Given the description of an element on the screen output the (x, y) to click on. 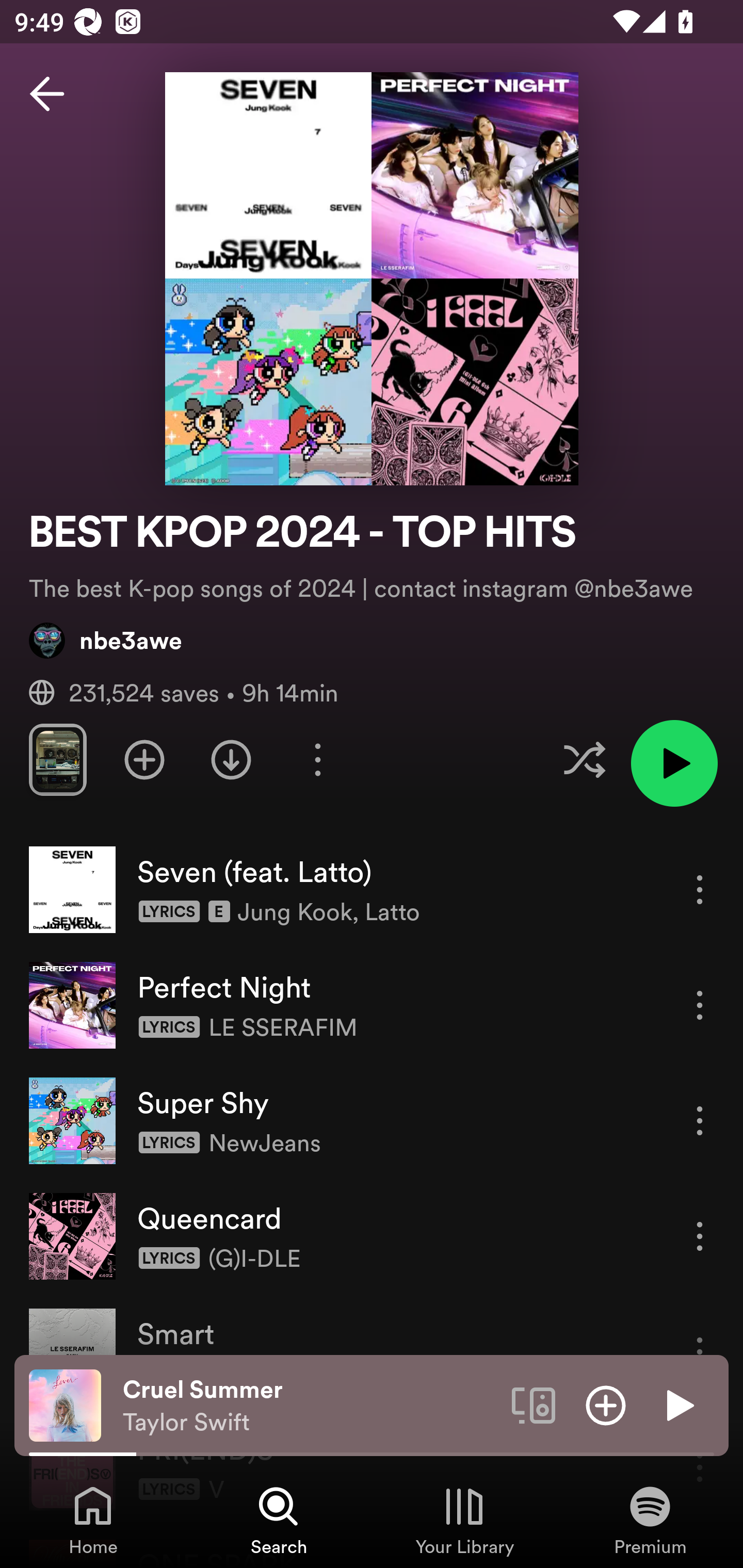
Back (46, 93)
nbe3awe (105, 640)
Swipe through previews of tracks in this playlist. (57, 759)
Add playlist to Your Library (144, 759)
Download (230, 759)
Enable shuffle for this playlist (583, 759)
Play playlist (674, 763)
More options for song Seven (feat. Latto) (699, 889)
More options for song Perfect Night (699, 1004)
More options for song Super Shy (699, 1120)
More options for song Queencard (699, 1236)
Cruel Summer Taylor Swift (309, 1405)
The cover art of the currently playing track (64, 1404)
Connect to a device. Opens the devices menu (533, 1404)
Add item (605, 1404)
Play (677, 1404)
Home, Tab 1 of 4 Home Home (92, 1519)
Search, Tab 2 of 4 Search Search (278, 1519)
Your Library, Tab 3 of 4 Your Library Your Library (464, 1519)
Premium, Tab 4 of 4 Premium Premium (650, 1519)
